Given the description of an element on the screen output the (x, y) to click on. 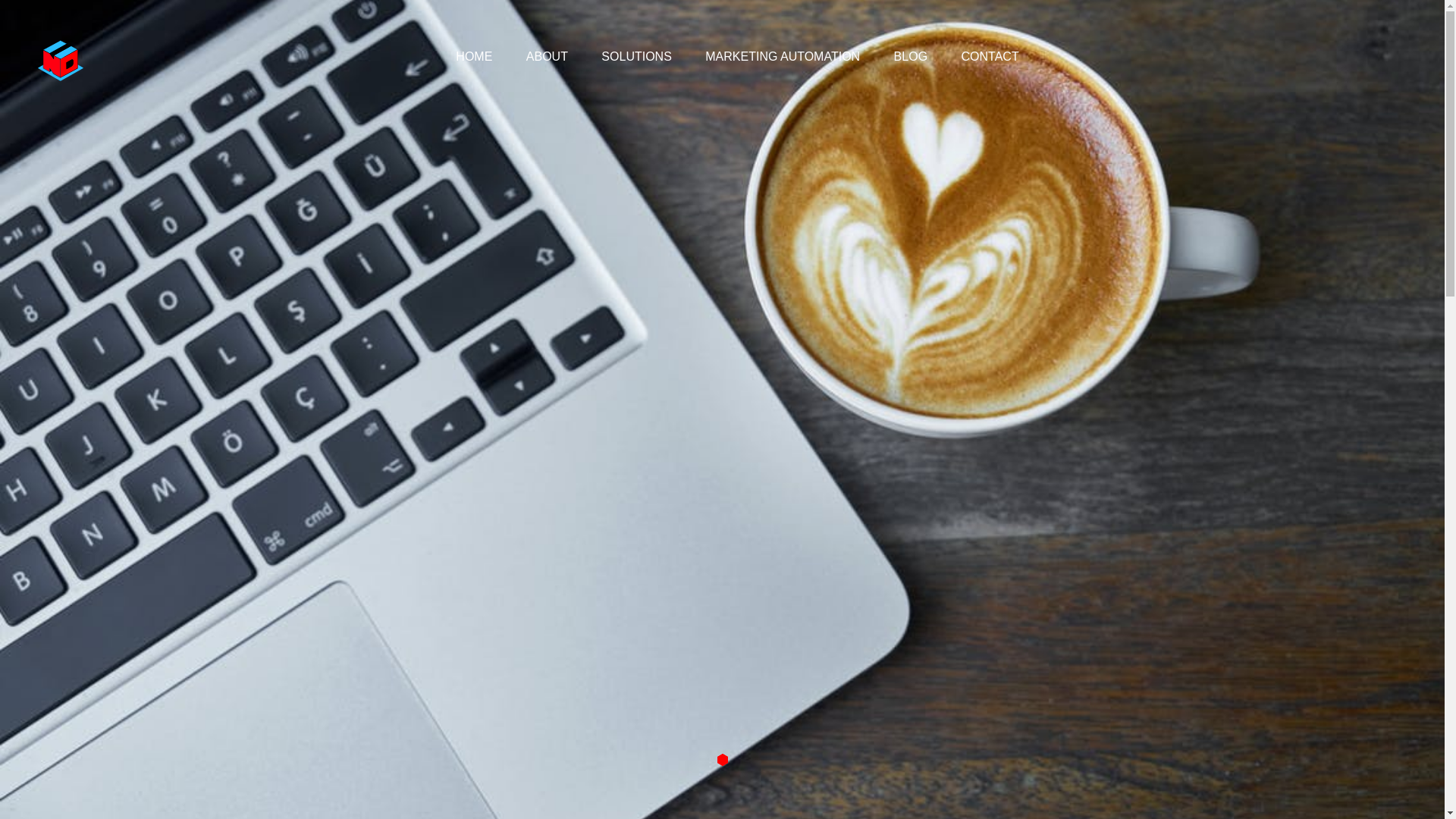
MARKETING AUTOMATION (782, 56)
HOME (473, 56)
CONTACT (989, 56)
BLOG (910, 56)
ABOUT (547, 56)
SOLUTIONS (635, 56)
